Given the description of an element on the screen output the (x, y) to click on. 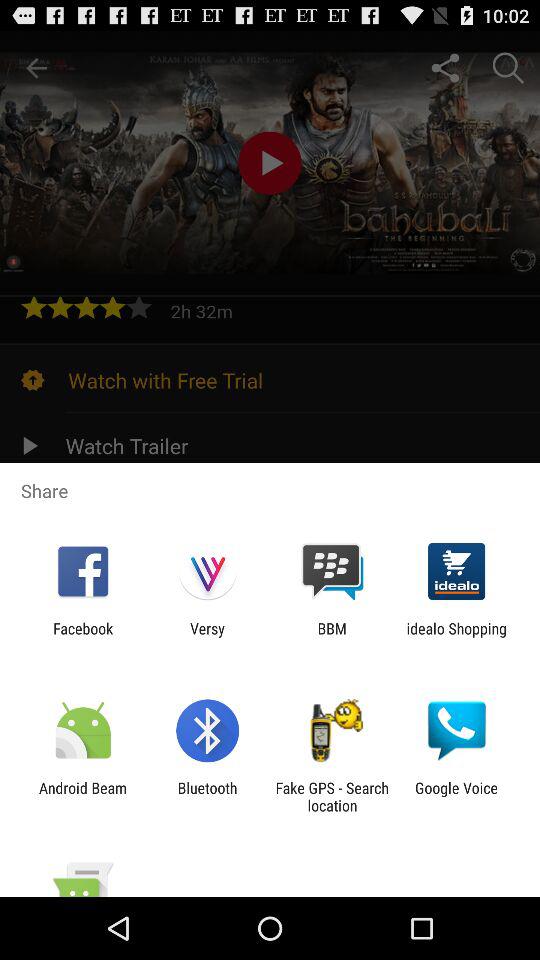
press icon next to fake gps search app (456, 796)
